Given the description of an element on the screen output the (x, y) to click on. 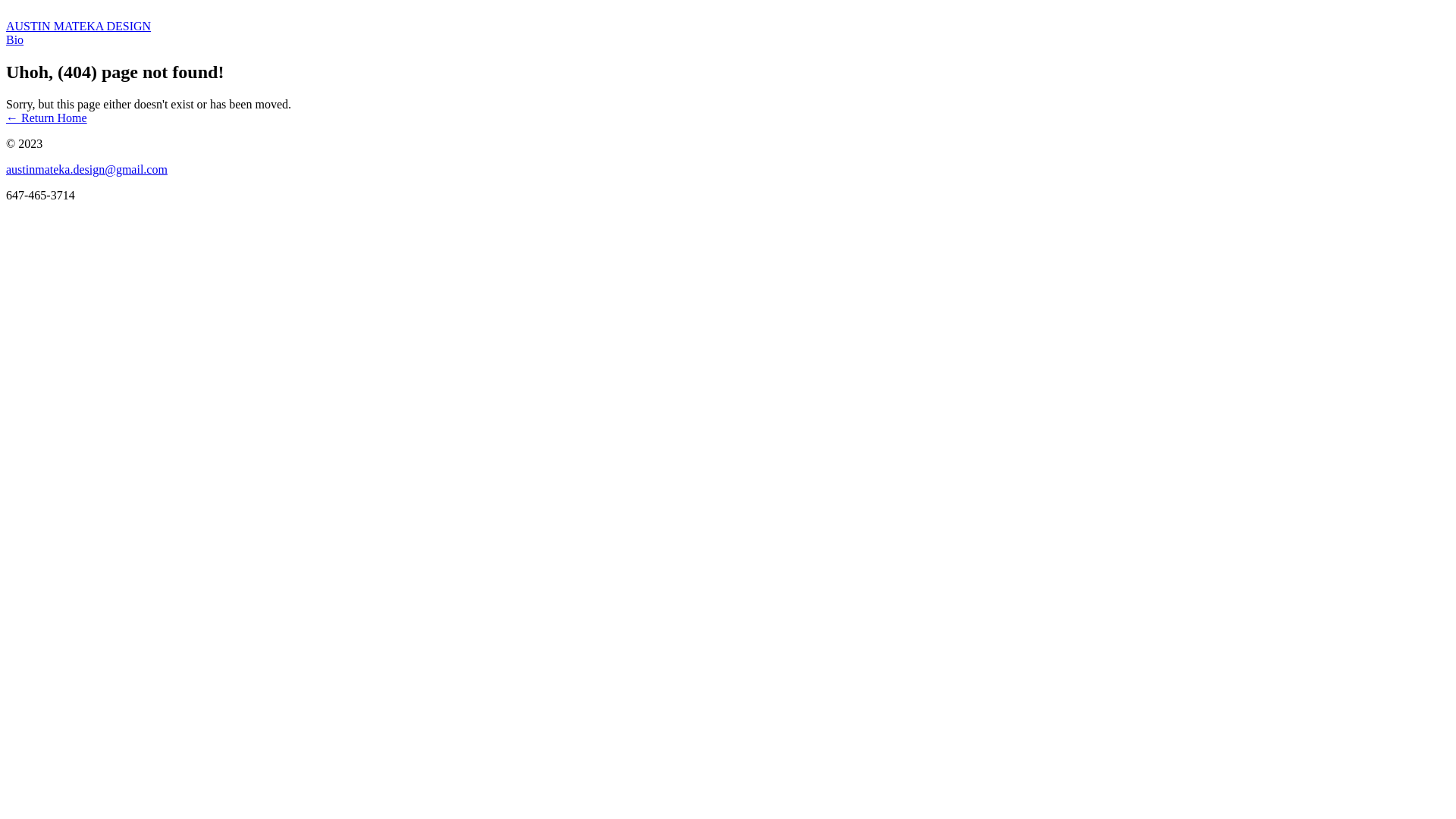
Bio Element type: text (727, 40)
AUSTIN MATEKA DESIGN Element type: text (727, 33)
austinmateka.design@gmail.com Element type: text (727, 169)
